Given the description of an element on the screen output the (x, y) to click on. 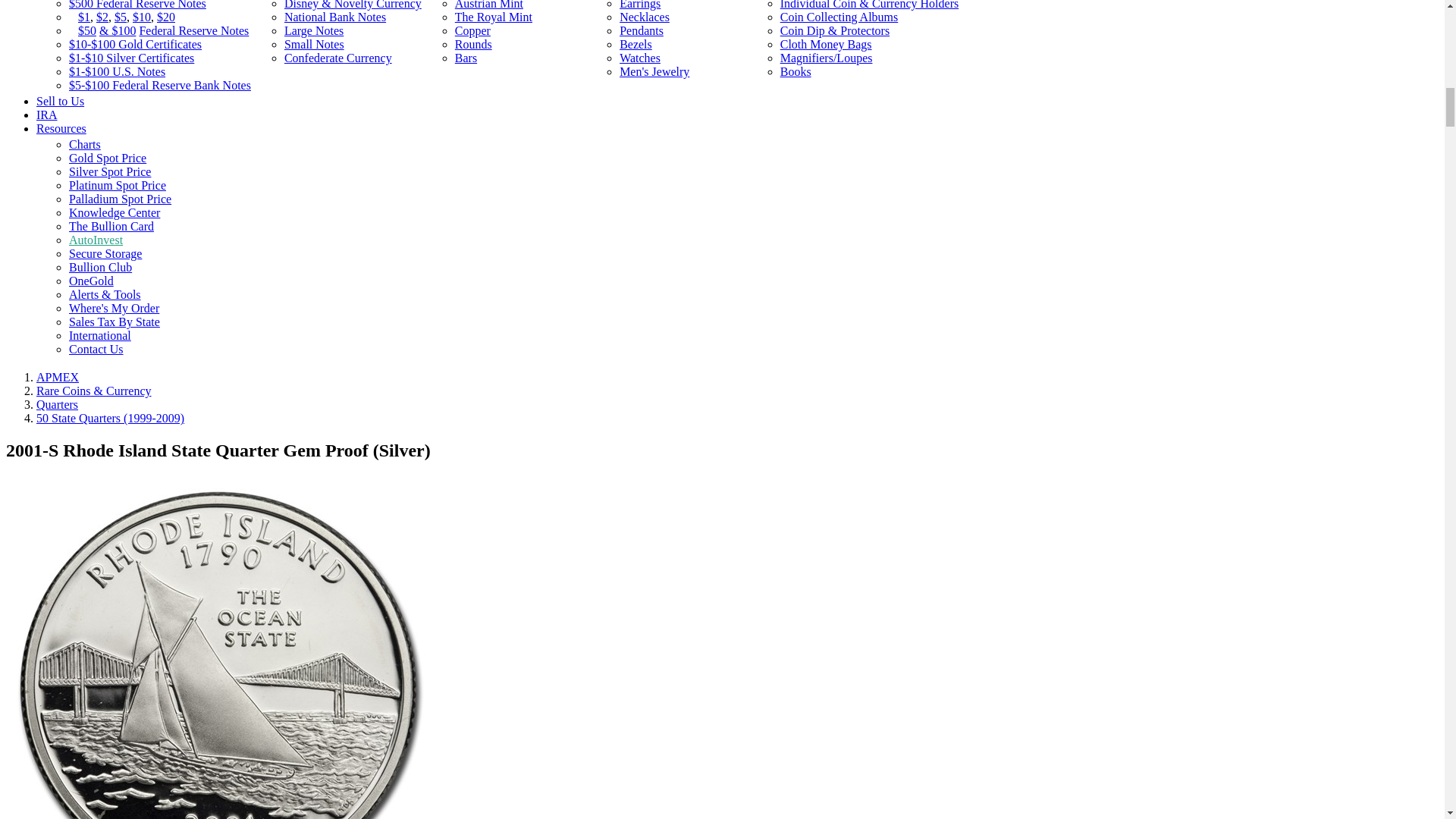
Home (57, 377)
